Given the description of an element on the screen output the (x, y) to click on. 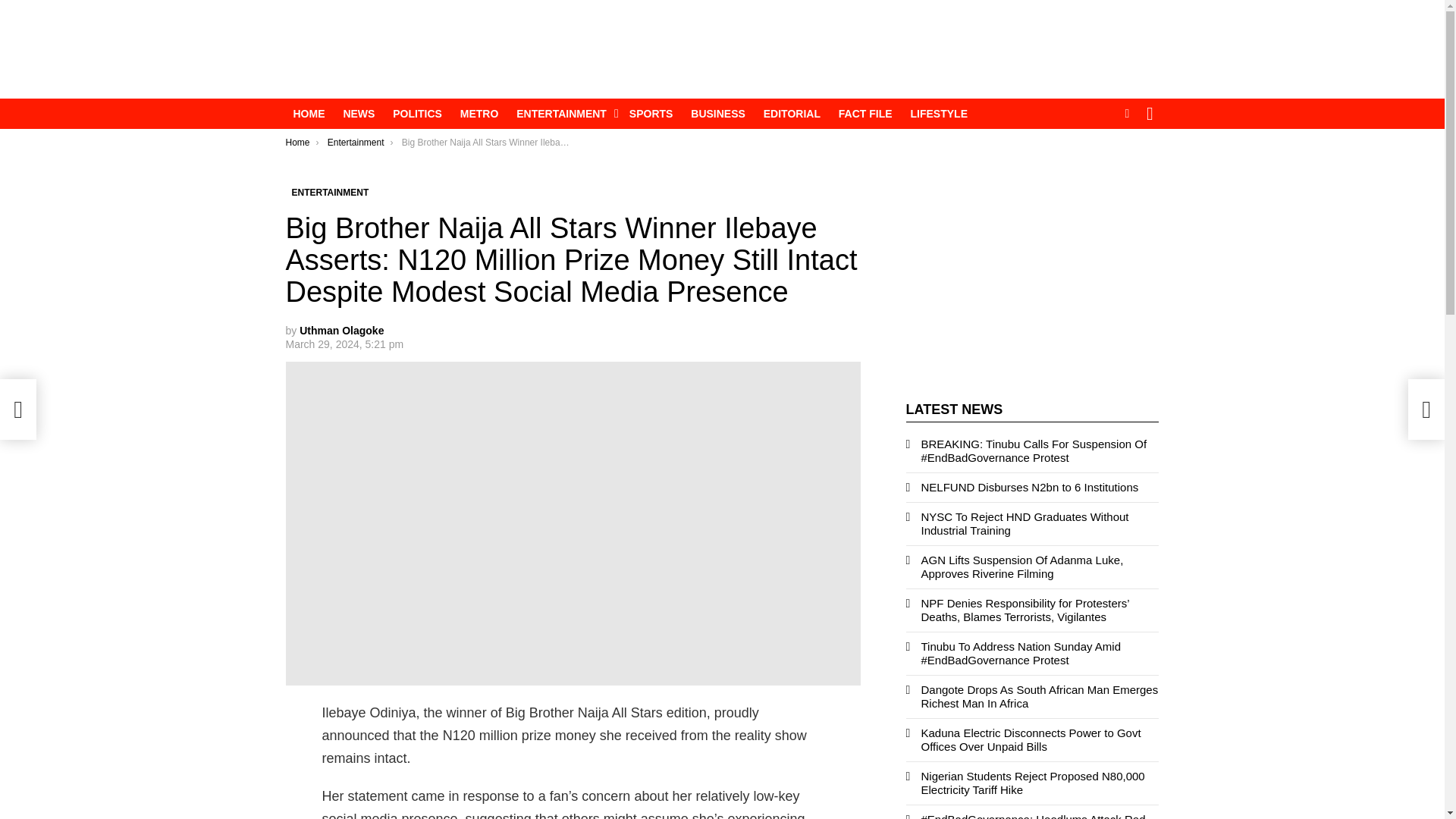
NEWS (357, 113)
EDITORIAL (791, 113)
ENTERTAINMENT (563, 113)
SPORTS (651, 113)
BUSINESS (717, 113)
FACT FILE (865, 113)
Posts by Uthman Olagoke (341, 330)
LIFESTYLE (938, 113)
METRO (479, 113)
POLITICS (417, 113)
HOME (308, 113)
